Given the description of an element on the screen output the (x, y) to click on. 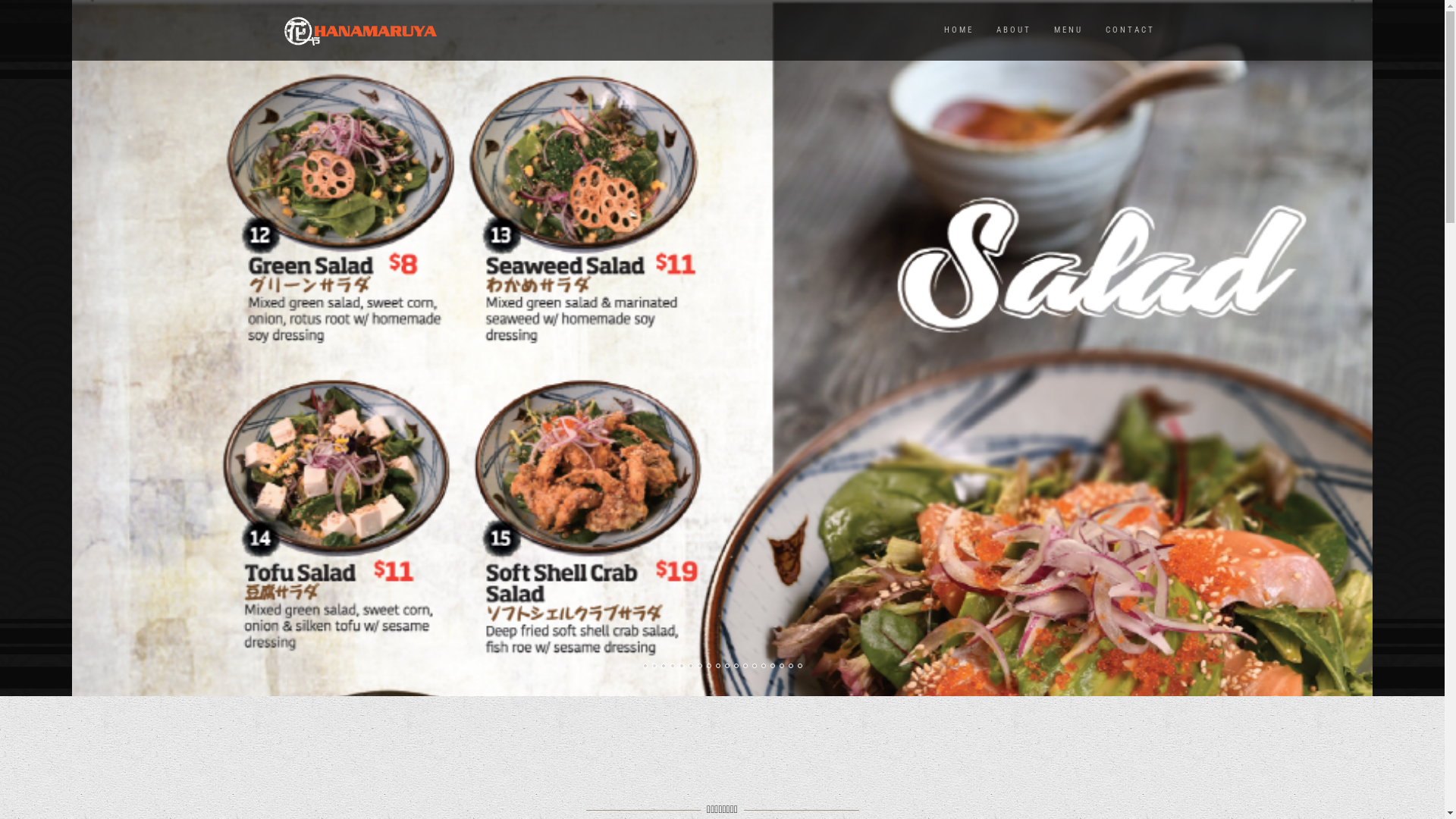
3 Element type: text (663, 665)
9 Element type: text (717, 665)
10 Element type: text (726, 665)
18 Element type: text (799, 665)
8 Element type: text (708, 665)
14 Element type: text (763, 665)
ABOUT Element type: text (1012, 30)
7 Element type: text (699, 665)
12 Element type: text (745, 665)
CONTACT Element type: text (1129, 30)
11 Element type: text (736, 665)
6 Element type: text (690, 665)
1 Element type: text (645, 665)
17 Element type: text (790, 665)
4 Element type: text (672, 665)
16 Element type: text (781, 665)
13 Element type: text (754, 665)
15 Element type: text (772, 665)
5 Element type: text (681, 665)
2 Element type: text (654, 665)
HOME Element type: text (958, 30)
MENU Element type: text (1067, 30)
